Given the description of an element on the screen output the (x, y) to click on. 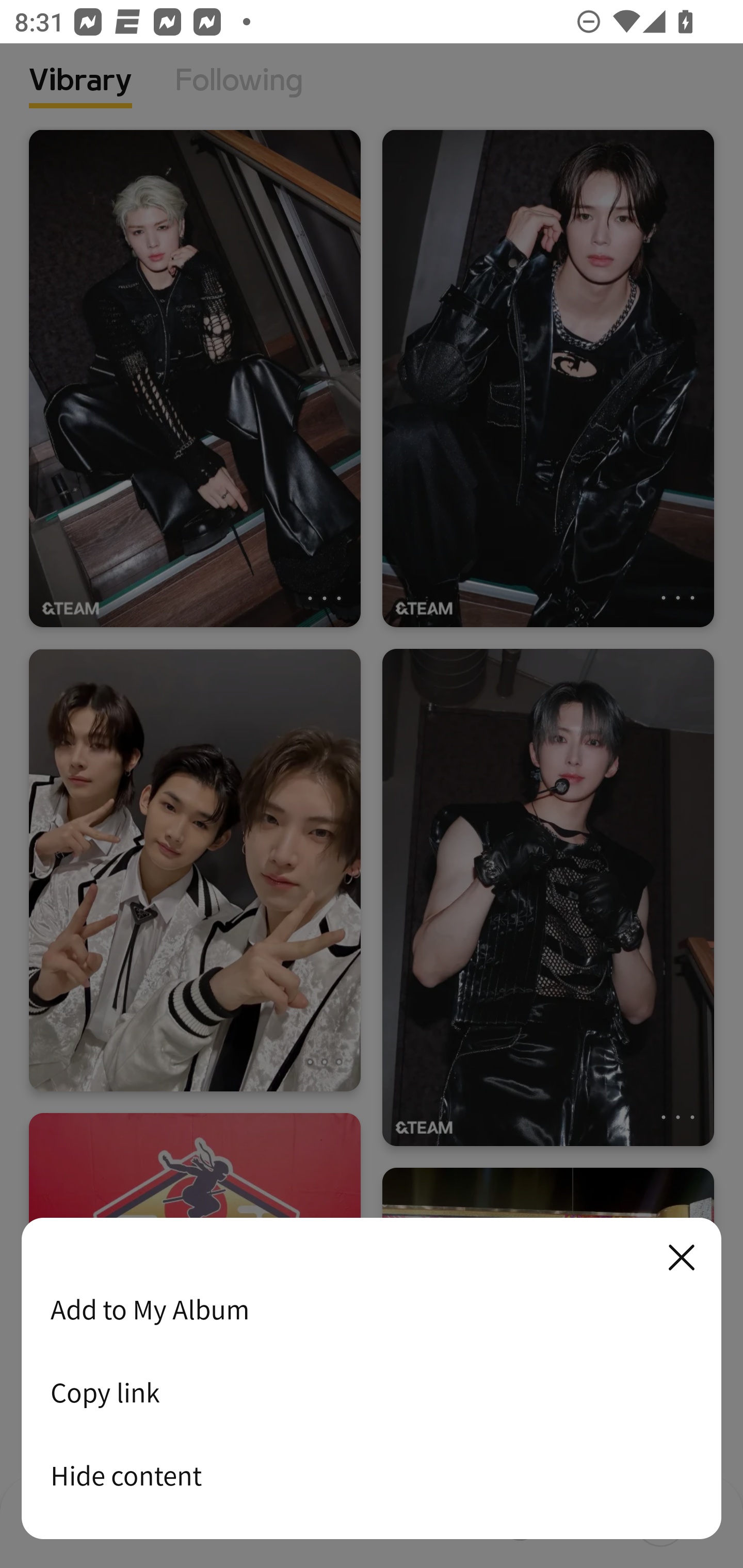
Add to My Album Copy link Hide content (371, 1378)
Add to My Album (371, 1308)
Copy link (371, 1391)
Hide content (371, 1474)
